Given the description of an element on the screen output the (x, y) to click on. 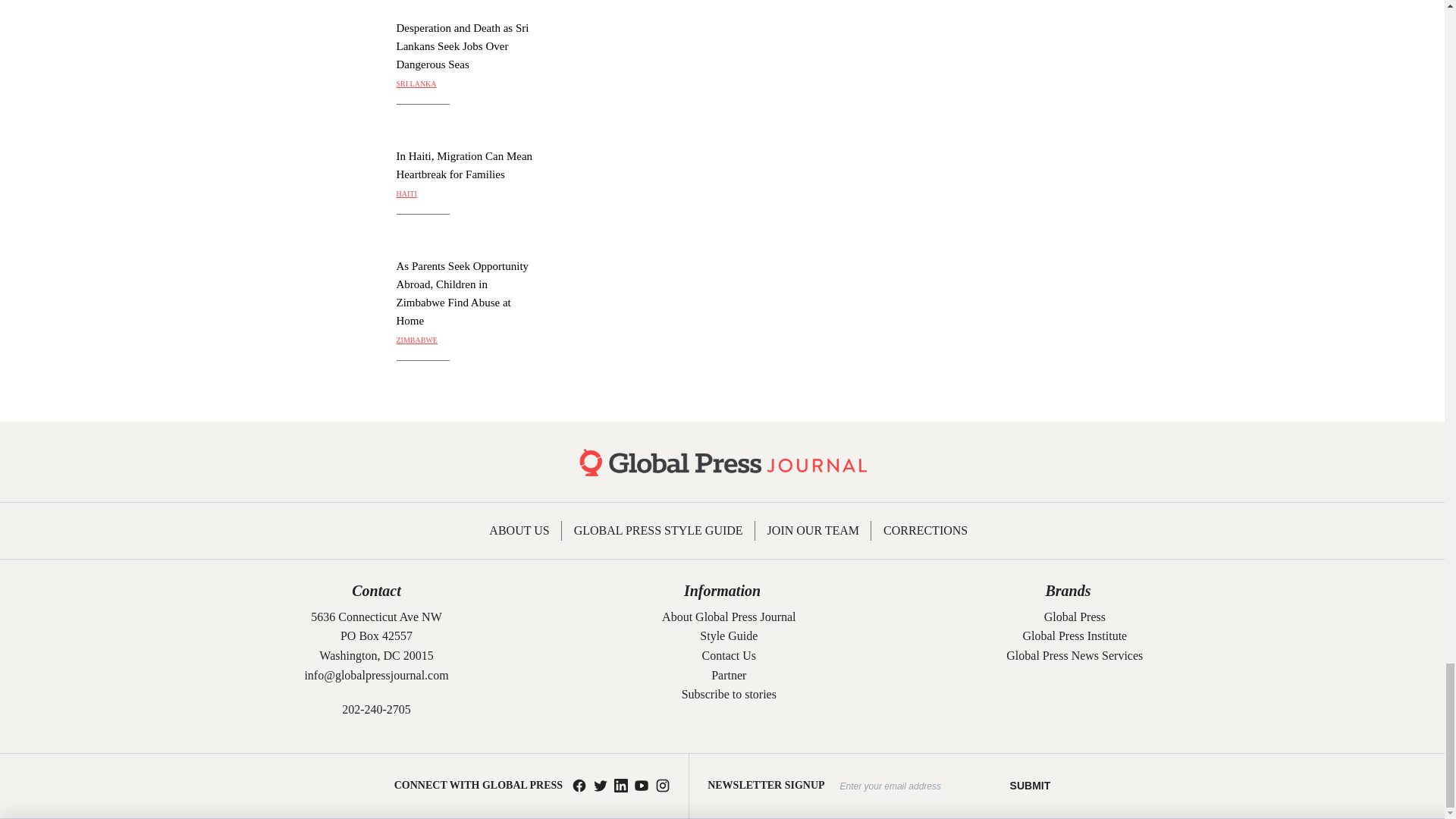
Visit our Twitter Page (600, 785)
Visit our LinkedIn Page (620, 785)
Visit our Youtube Page (641, 785)
Submit (1030, 785)
Visit our Facebook page (579, 785)
Global Press Journal (721, 461)
